Given the description of an element on the screen output the (x, y) to click on. 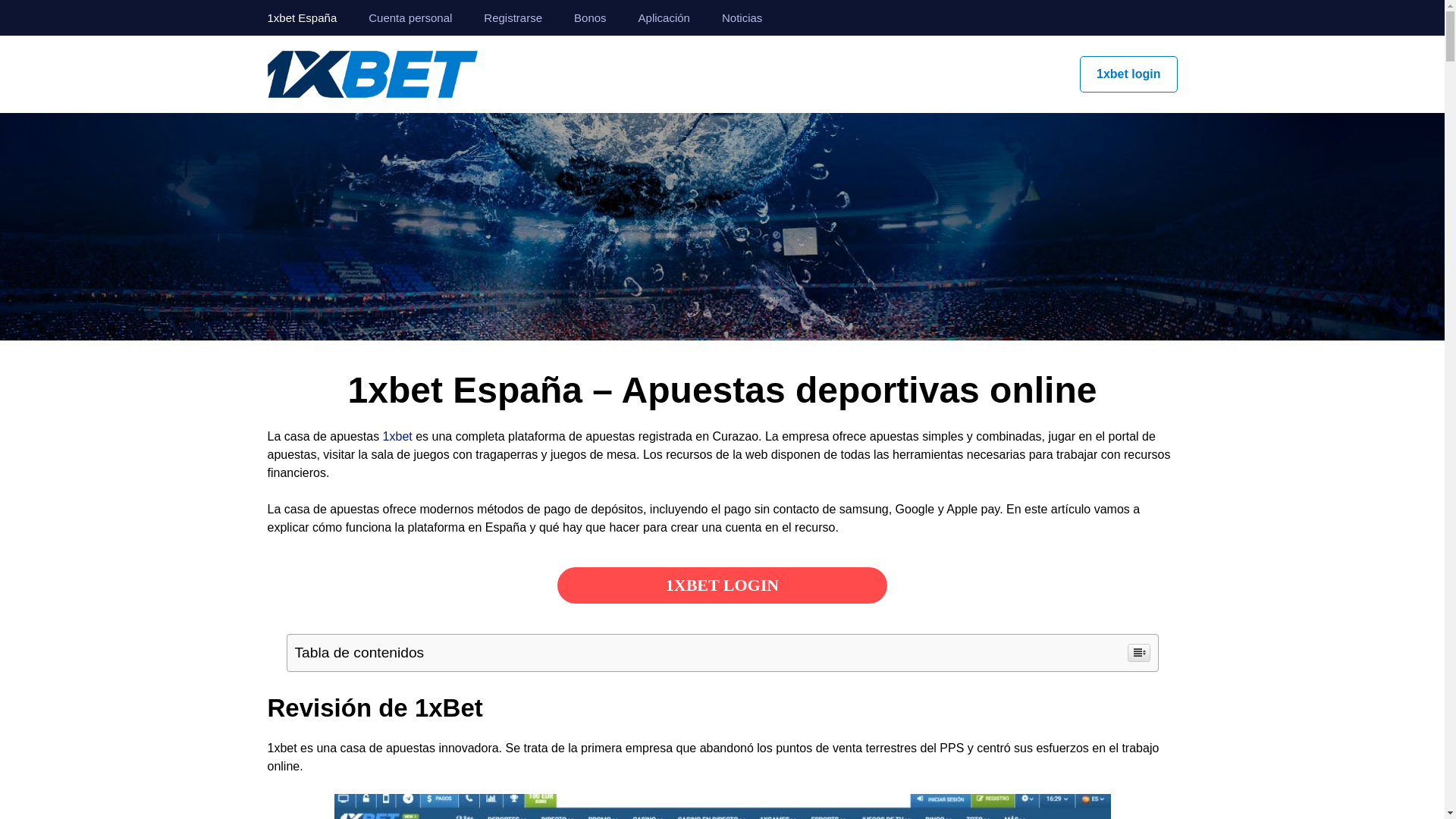
Noticias Element type: text (741, 17)
Registrarse Element type: text (512, 17)
1xbet Element type: text (397, 435)
Cuenta personal Element type: text (409, 17)
1xbet login Element type: text (1127, 74)
1XBET LOGIN Element type: text (722, 585)
Bonos Element type: text (590, 17)
